Given the description of an element on the screen output the (x, y) to click on. 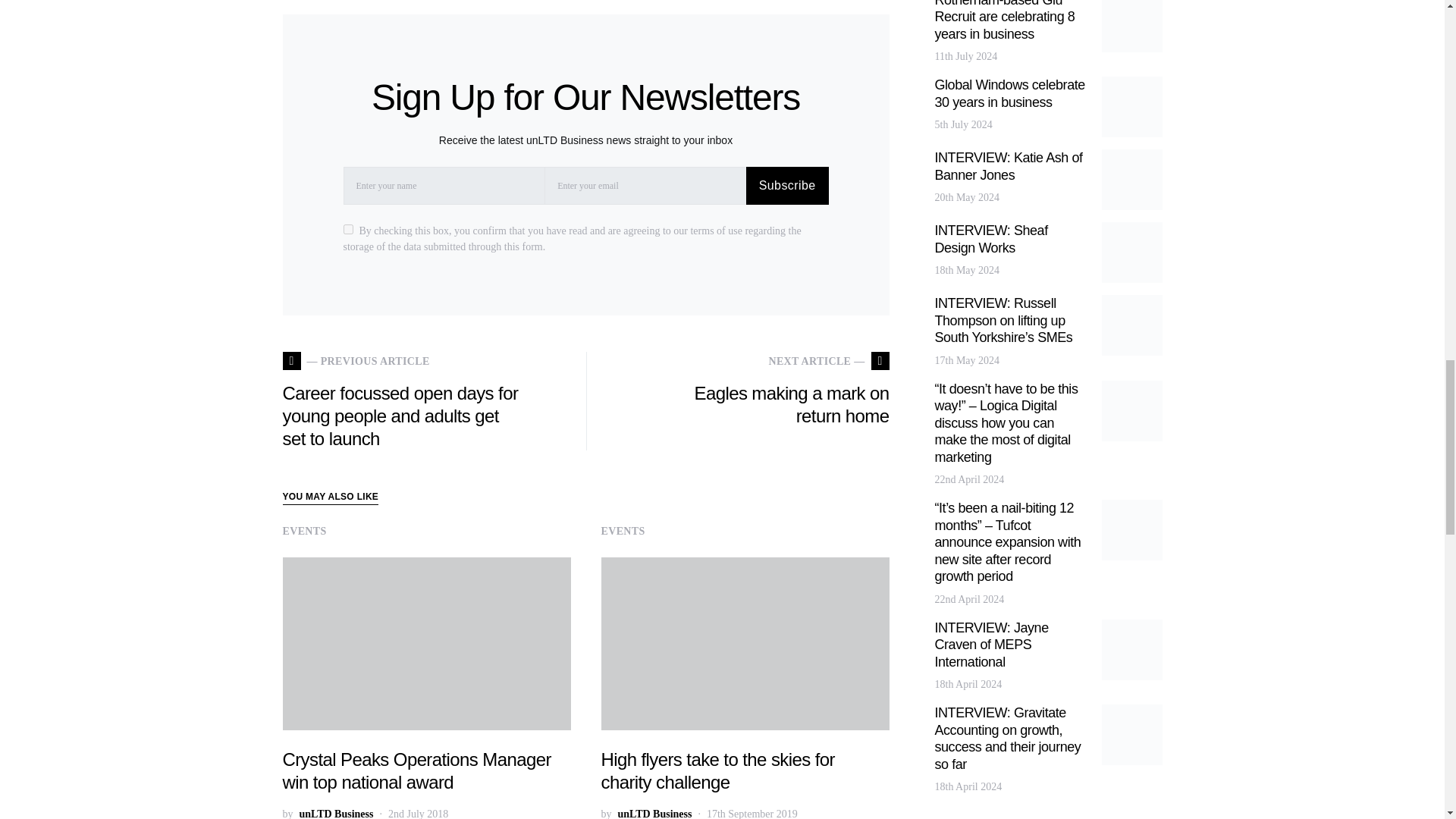
on (347, 229)
View all posts by unLTD Business (335, 812)
View all posts by unLTD Business (654, 812)
